Given the description of an element on the screen output the (x, y) to click on. 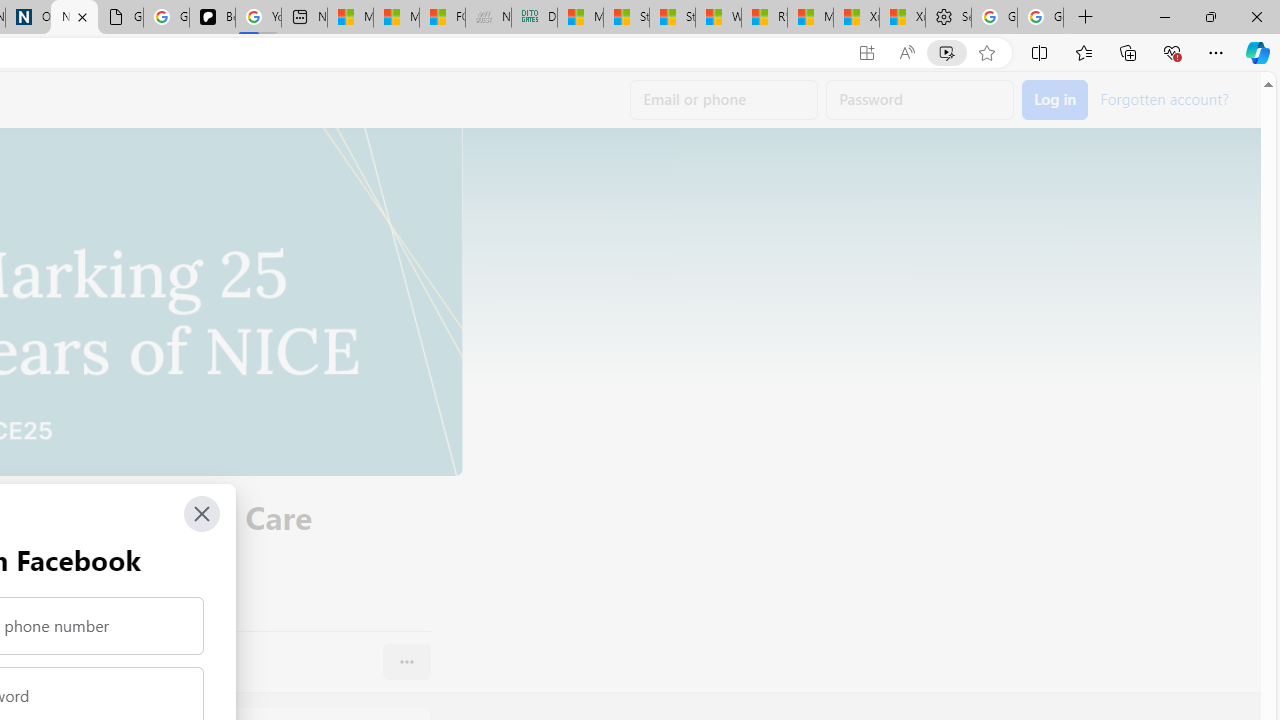
Stocks - MSN (672, 17)
R******* | Trusted Community Engagement and Contributions (764, 17)
Email or phone (724, 99)
App available. Install Facebook (867, 53)
Google Analytics Opt-out Browser Add-on Download Page (120, 17)
Accessible login button (1055, 99)
Enhance video (946, 53)
Be Smart | creating Science videos | Patreon (212, 17)
